Given the description of an element on the screen output the (x, y) to click on. 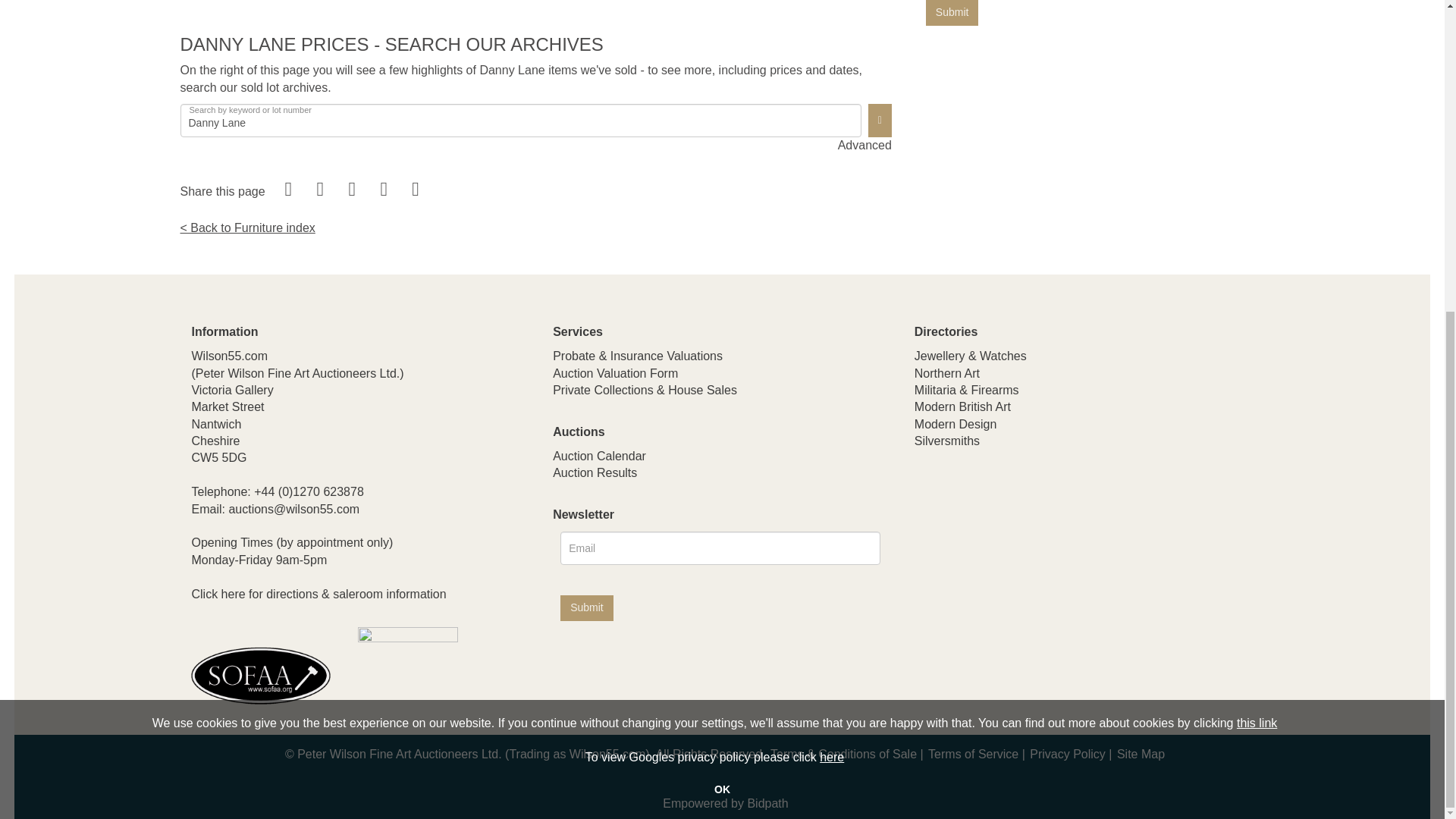
Submit (586, 607)
Submit (952, 12)
Danny Lane (520, 120)
Advanced (864, 145)
